Given the description of an element on the screen output the (x, y) to click on. 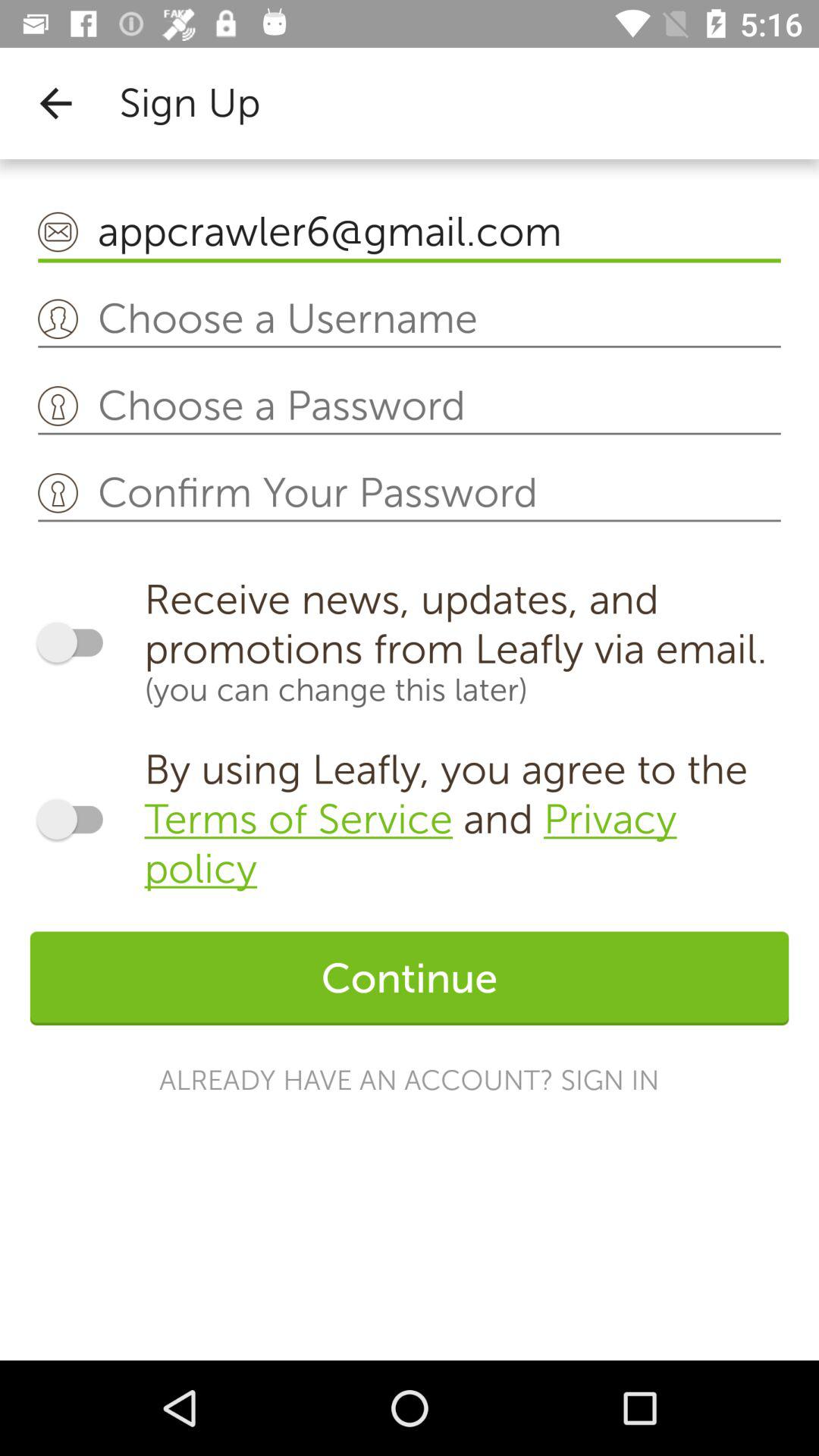
choose icon above continue icon (466, 819)
